Given the description of an element on the screen output the (x, y) to click on. 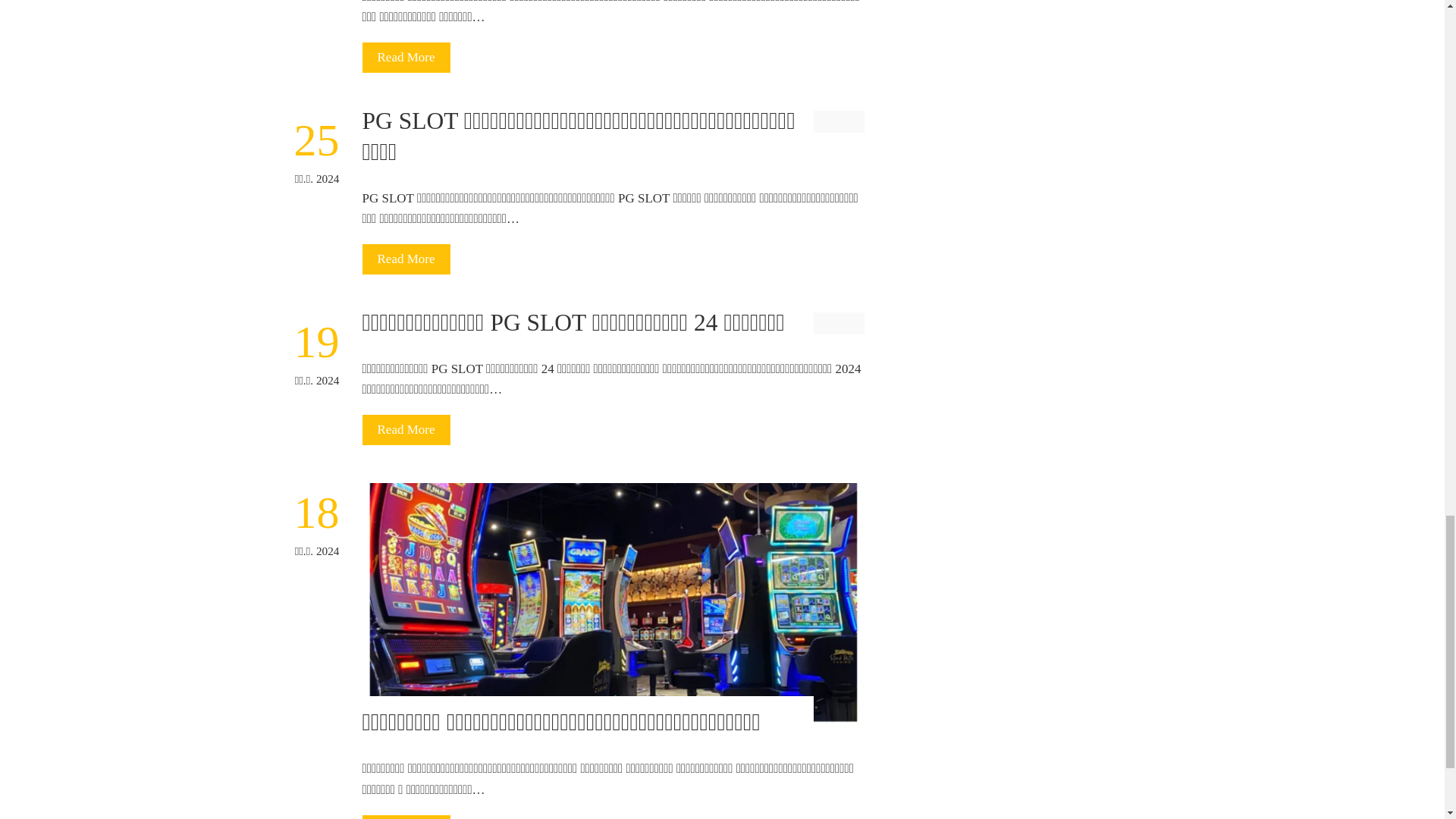
Read More (405, 57)
Read More (405, 259)
Read More (405, 816)
Read More (405, 429)
